Given the description of an element on the screen output the (x, y) to click on. 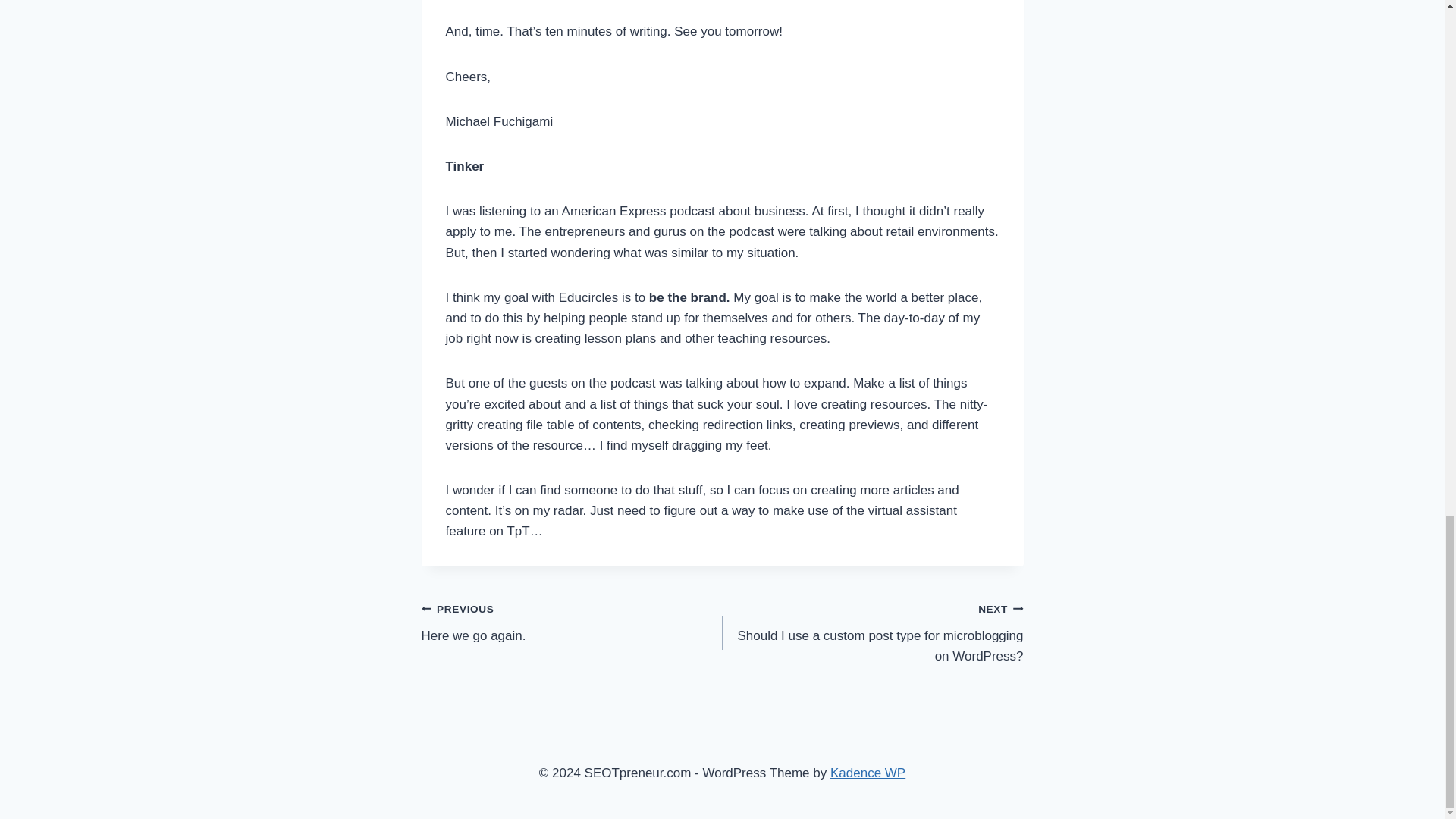
Kadence WP (867, 772)
